Given the description of an element on the screen output the (x, y) to click on. 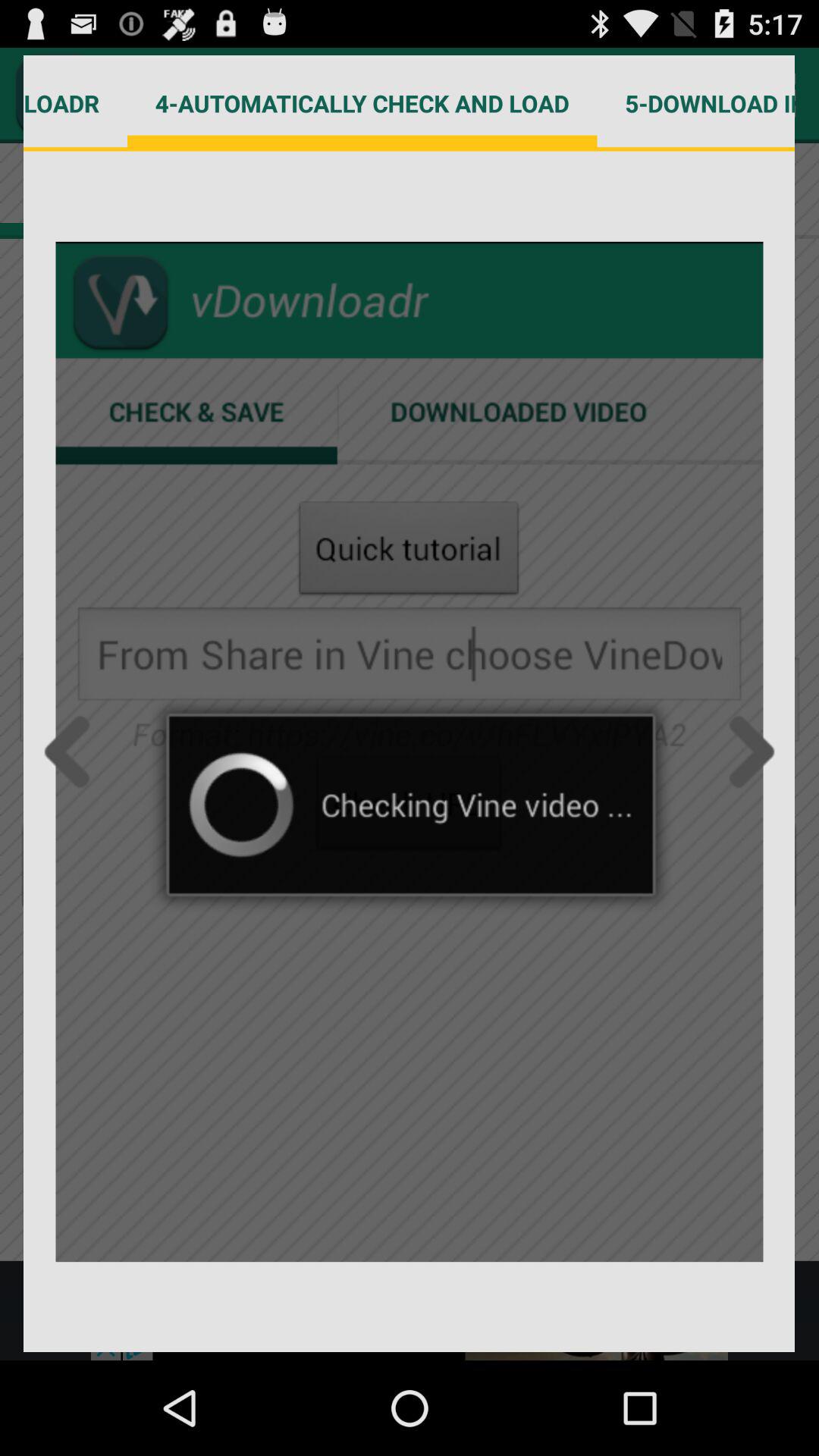
press icon next to 3-choose vdownloadr item (362, 103)
